Given the description of an element on the screen output the (x, y) to click on. 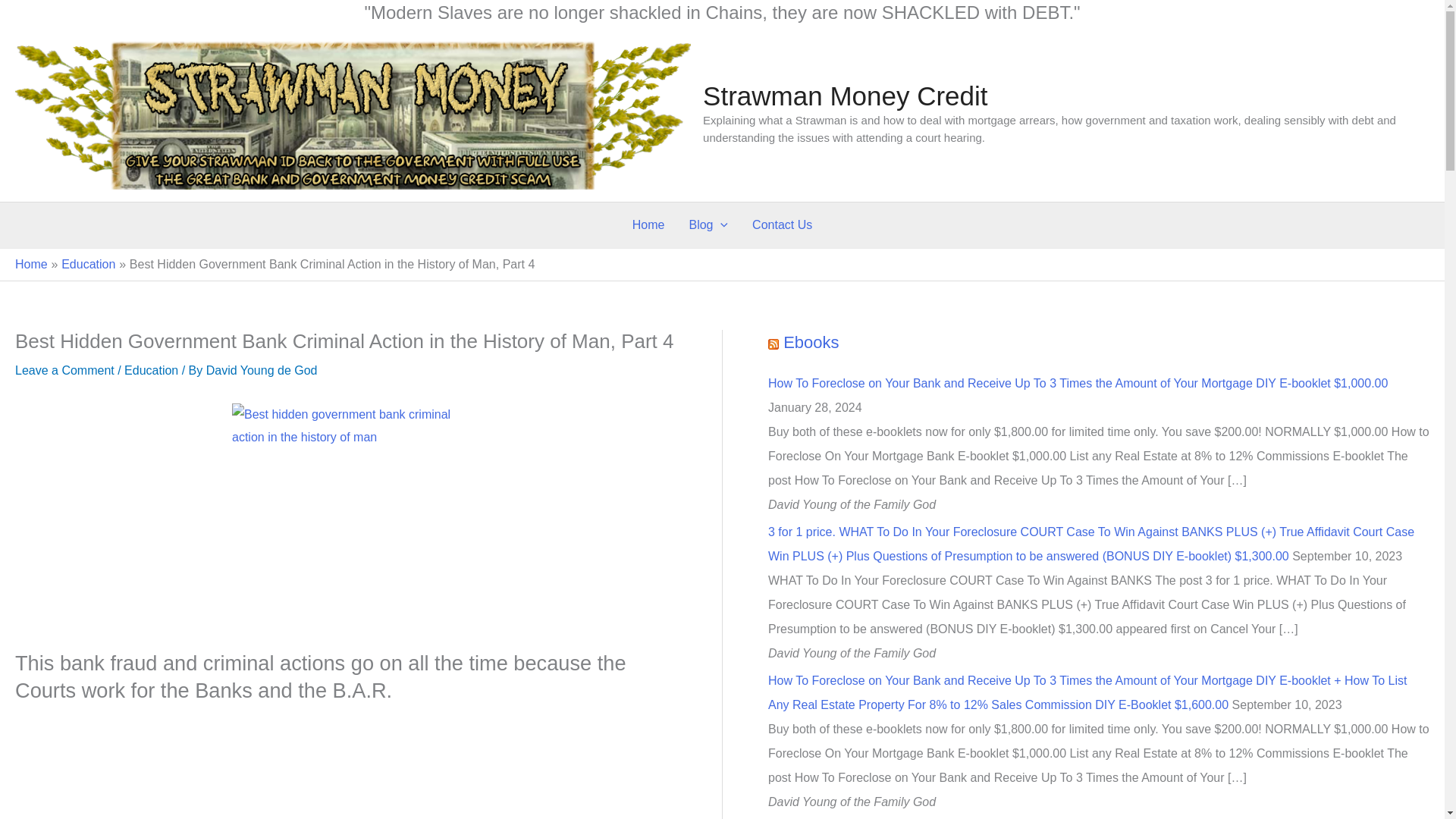
Education (150, 369)
Strawman Money Credit (845, 95)
Education (88, 264)
Contact Us (781, 225)
Ebooks (810, 342)
View all posts by David Young de God (261, 369)
Blog (708, 225)
Home (648, 225)
